Given the description of an element on the screen output the (x, y) to click on. 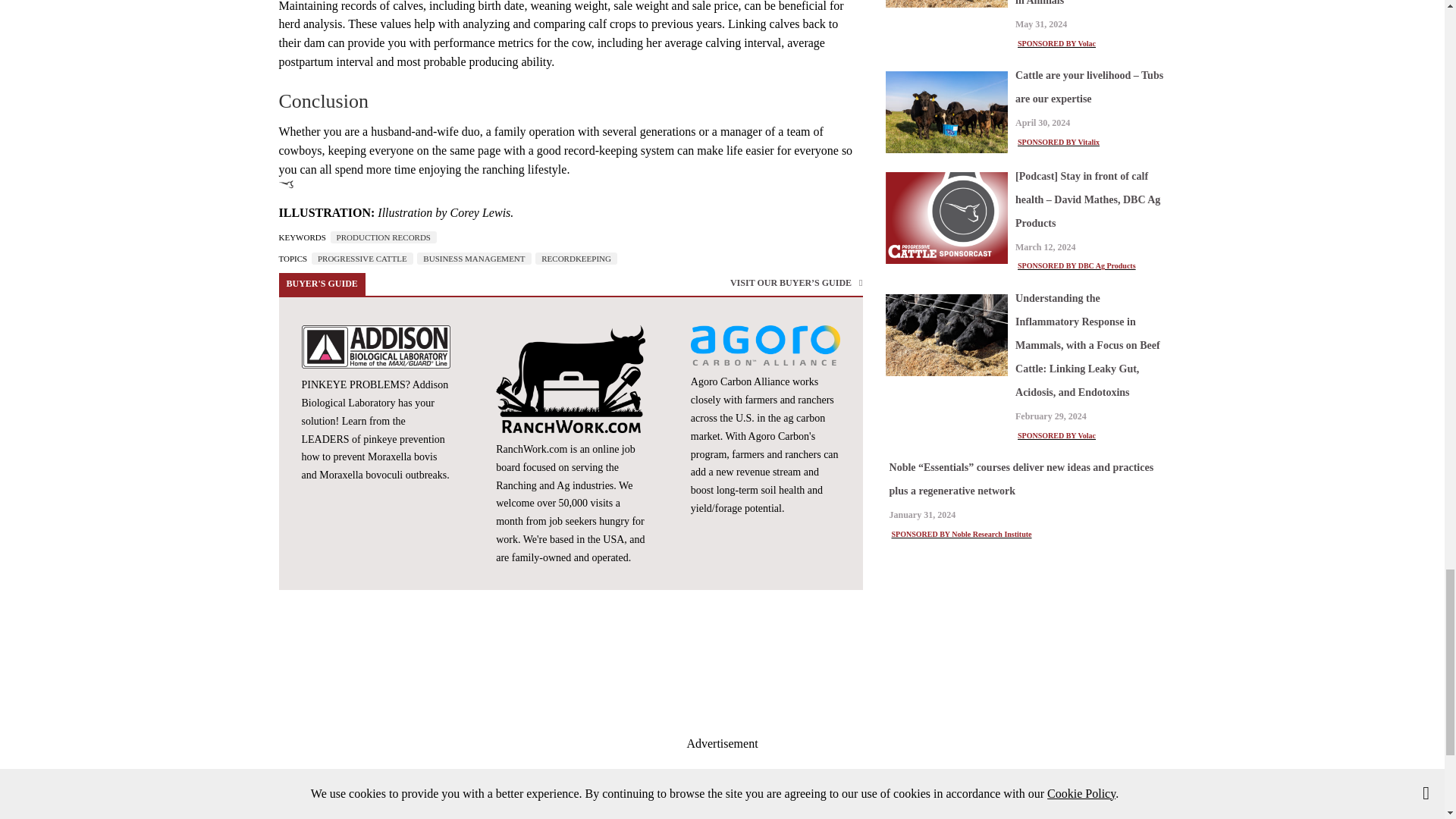
volac-beef-feedng-light.jpg (947, 334)
PC-sponsorcast-newsletter.png (947, 217)
vitalix-sc-pc-may-2024.jpg (947, 111)
volac-beef-main.jpg (947, 3)
